Given the description of an element on the screen output the (x, y) to click on. 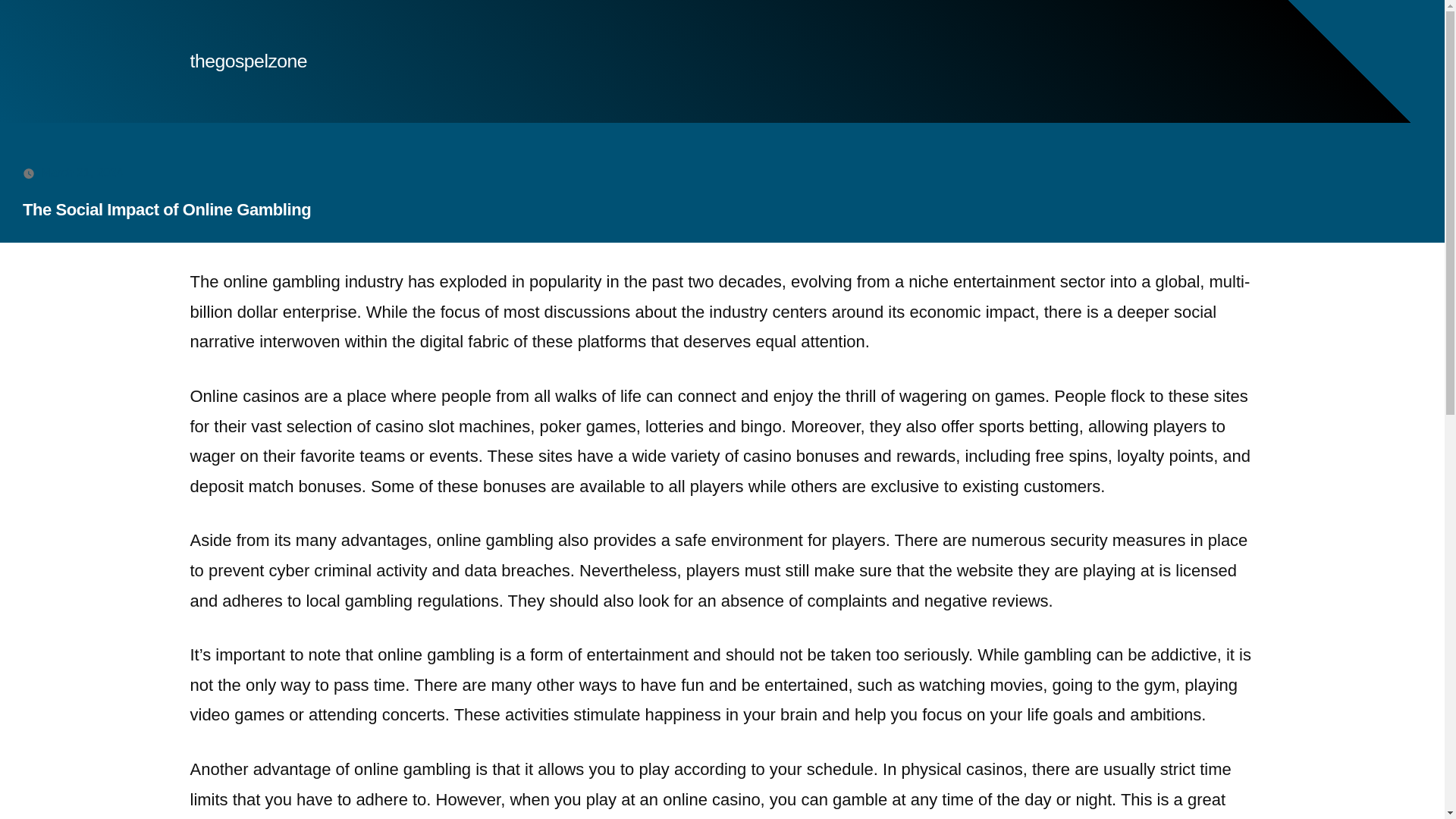
March 21, 2024 (81, 172)
thegospelzone (248, 60)
